Given the description of an element on the screen output the (x, y) to click on. 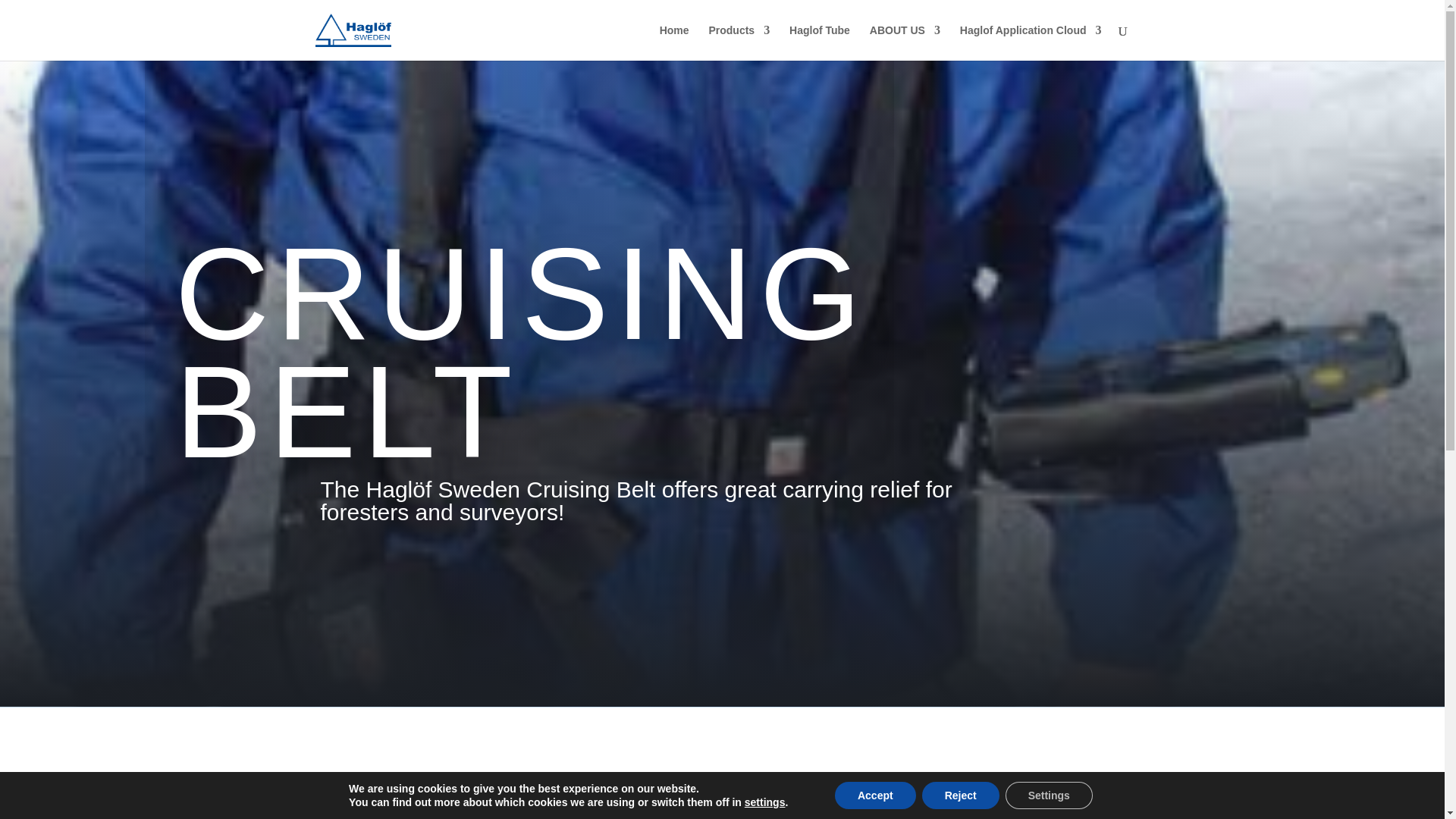
Haglof Application Cloud (1030, 42)
Haglof Tube (819, 42)
ABOUT US (904, 42)
Products (738, 42)
